Given the description of an element on the screen output the (x, y) to click on. 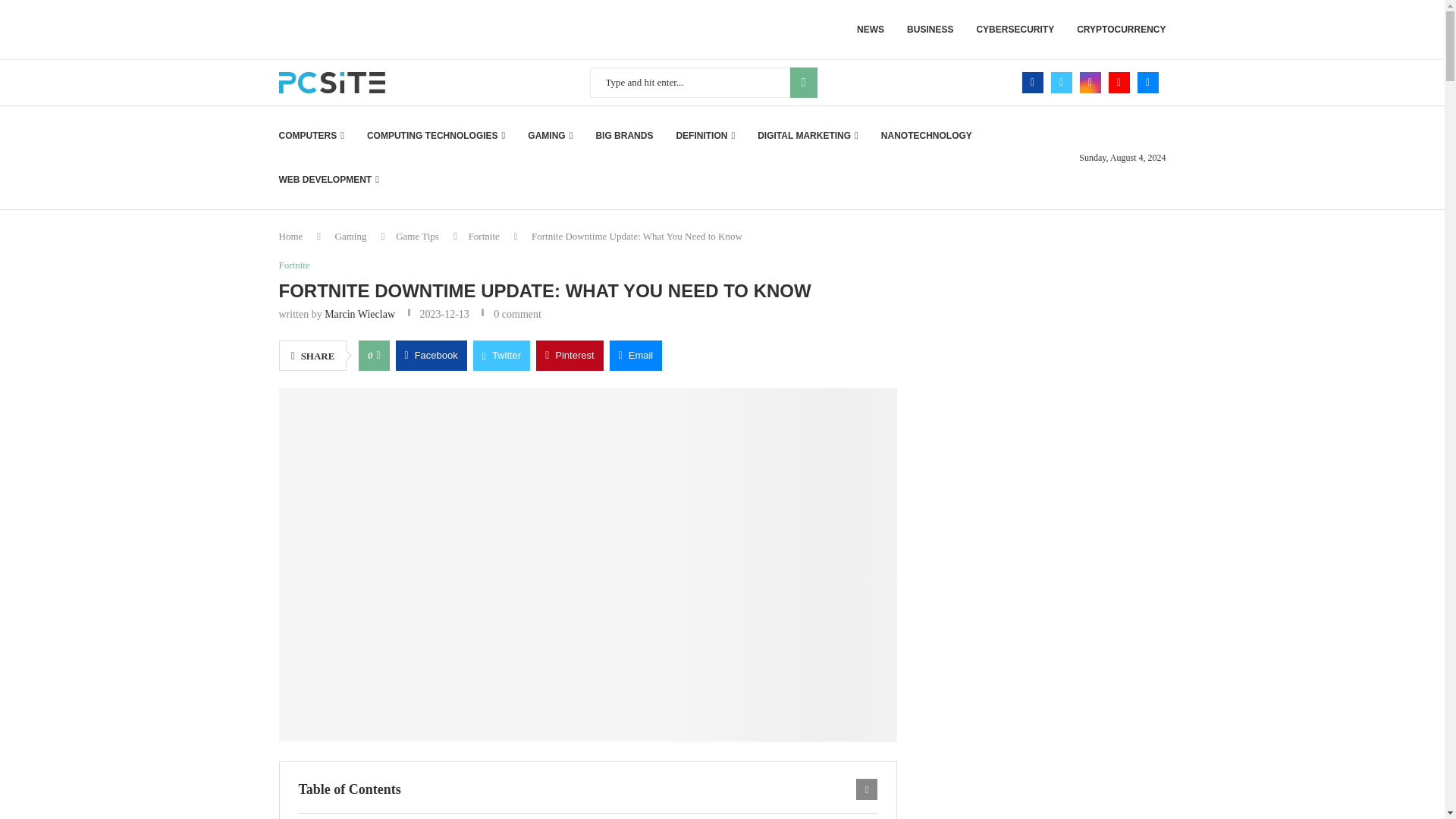
Like (377, 355)
Marcin Wieclaw (359, 314)
